Given the description of an element on the screen output the (x, y) to click on. 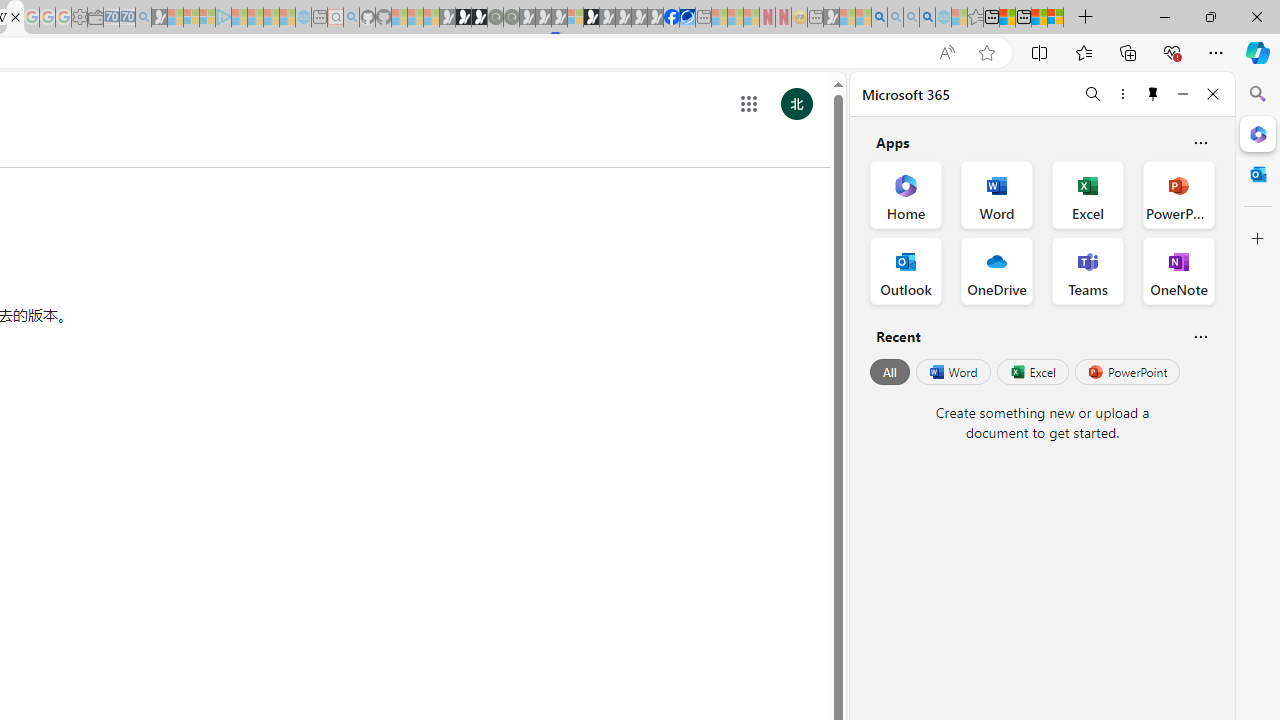
Microsoft Start Gaming - Sleeping (159, 17)
Close Customize pane (1258, 239)
Google Chrome Internet Browser Download - Search Images (927, 17)
Class: gb_E (749, 103)
Unpin side pane (1153, 93)
OneNote Office App (1178, 270)
Bing Real Estate - Home sales and rental listings - Sleeping (143, 17)
More options (1122, 93)
github - Search - Sleeping (351, 17)
